Given the description of an element on the screen output the (x, y) to click on. 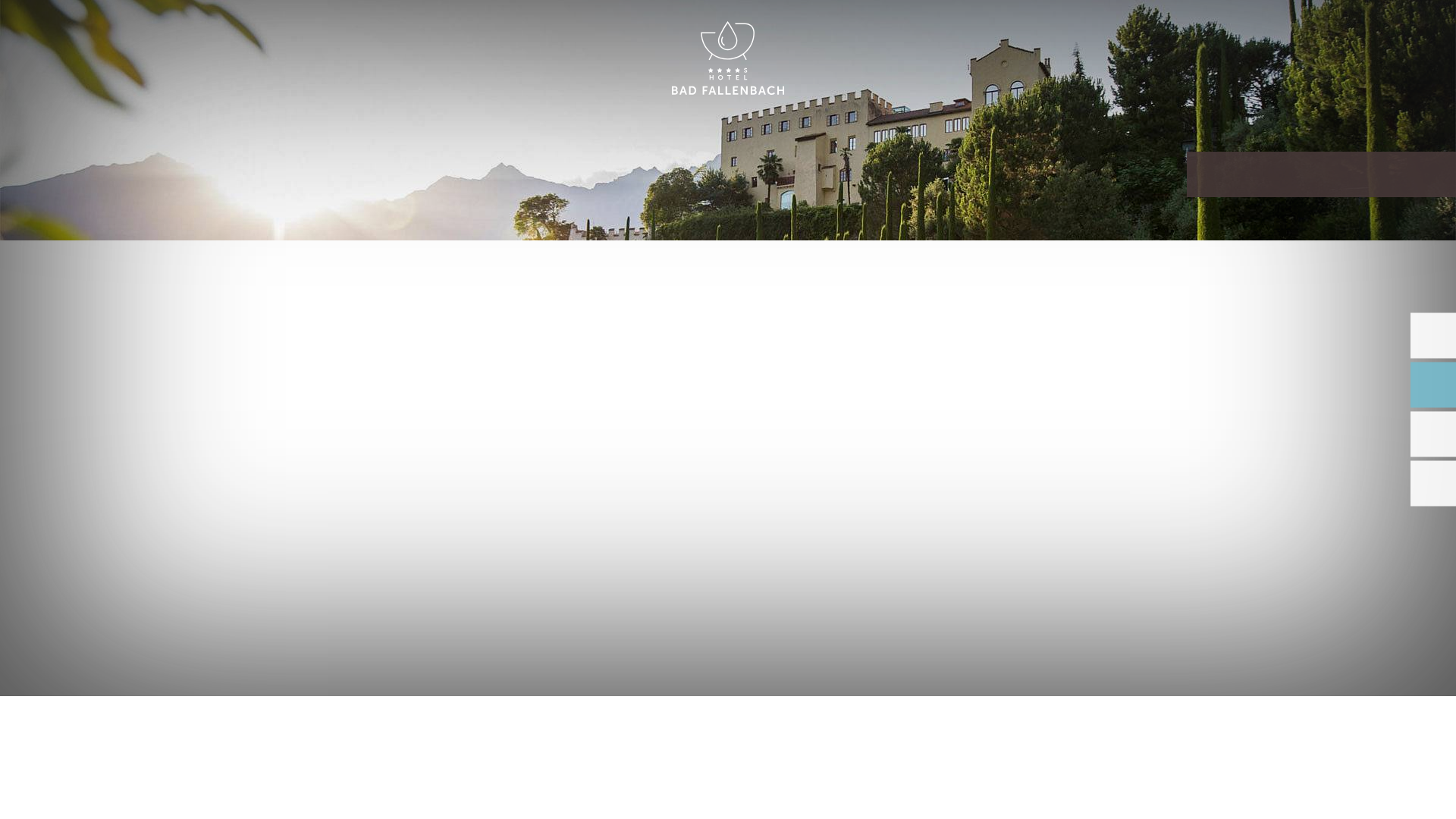
ENGLISH (1291, 29)
HOTEL BAD FALLENBACH (727, 59)
